Given the description of an element on the screen output the (x, y) to click on. 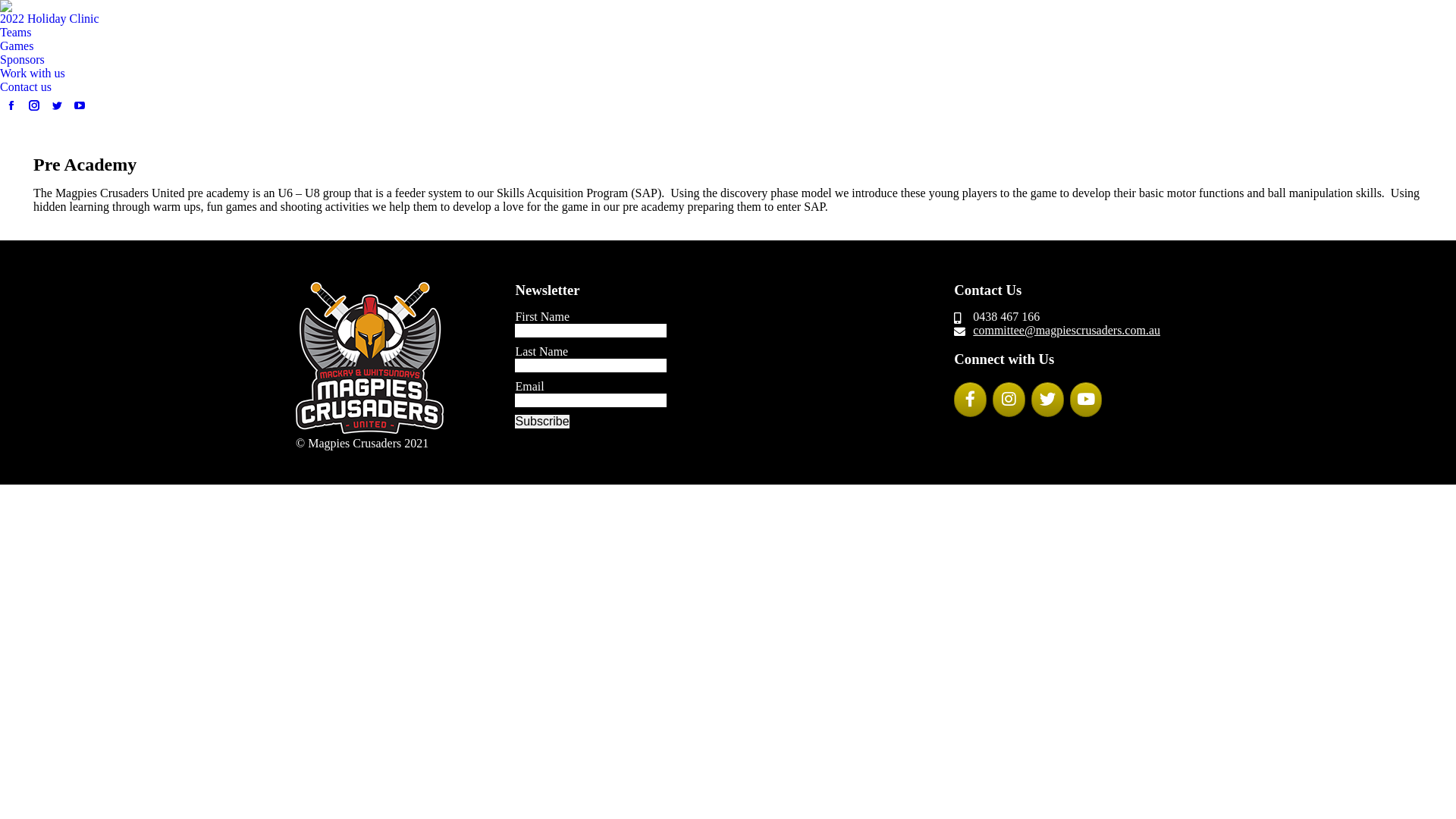
Facebook page opens in new window Element type: text (11, 105)
Subscribe Element type: text (541, 421)
Magpies Crusaders on Instagram Element type: hover (1008, 399)
2022 Holiday Clinic Element type: text (49, 18)
Work with us Element type: text (32, 73)
Teams Element type: text (15, 32)
Magpies Crusaders on Youtube Element type: hover (1086, 399)
Contact us Element type: text (25, 87)
YouTube page opens in new window Element type: text (79, 105)
Magpies Crusaders on Facebook Element type: hover (969, 399)
committee@magpiescrusaders.com.au Element type: text (1066, 329)
Sponsors Element type: text (22, 59)
Magpies Crusaders on Twitter Element type: hover (1047, 399)
Twitter page opens in new window Element type: text (56, 105)
Games Element type: text (16, 46)
Instagram page opens in new window Element type: text (33, 105)
